Given the description of an element on the screen output the (x, y) to click on. 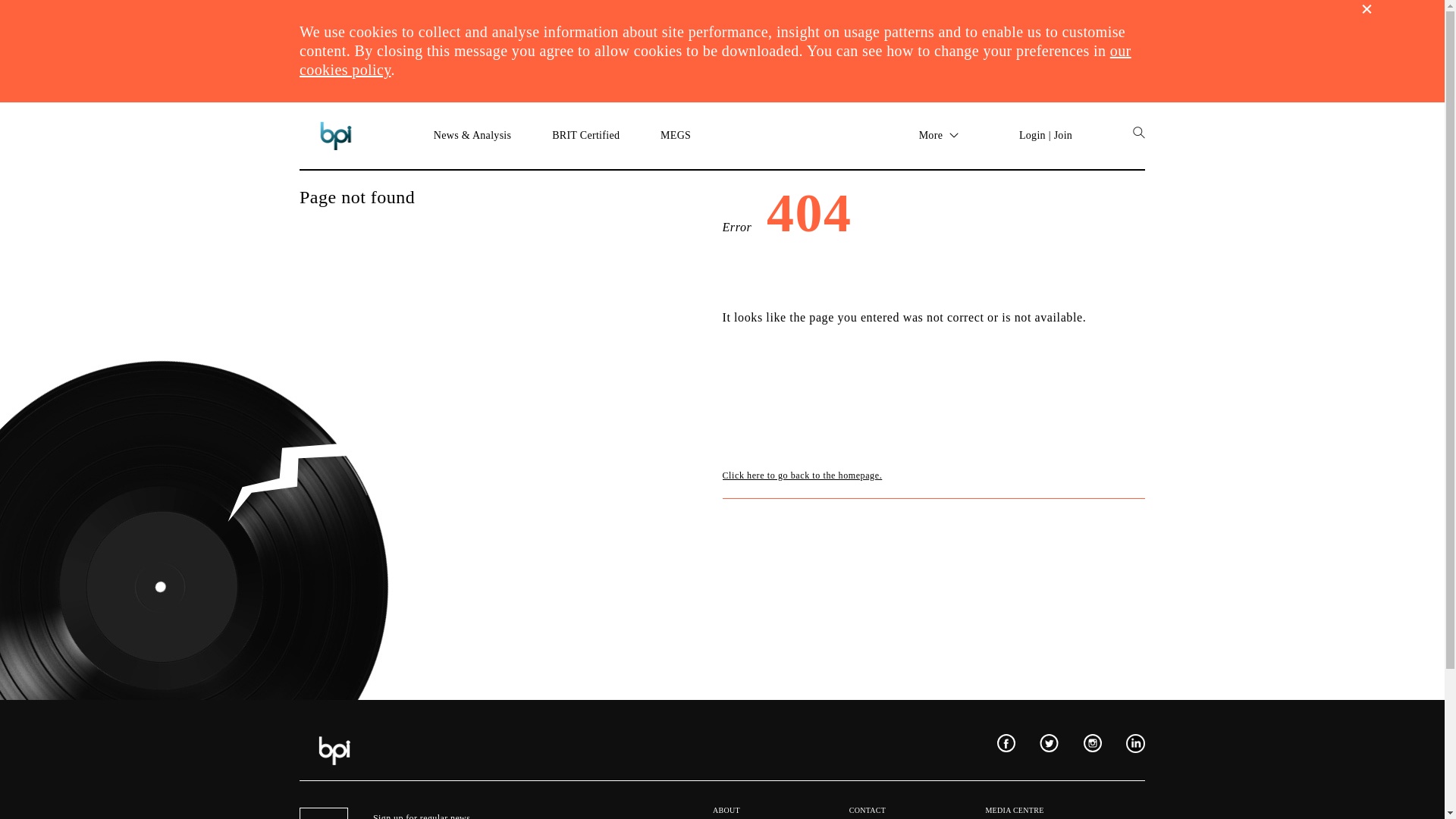
BRIT Certified (585, 134)
Instagram BPI Page (1091, 744)
Cookies Policy (715, 59)
Linkedin BPI Page (1133, 744)
MEGS (675, 134)
Login (1032, 134)
Twitter BPI Page (1046, 744)
Facebook BPI Page (1003, 744)
our cookies policy (715, 59)
More (938, 134)
